Given the description of an element on the screen output the (x, y) to click on. 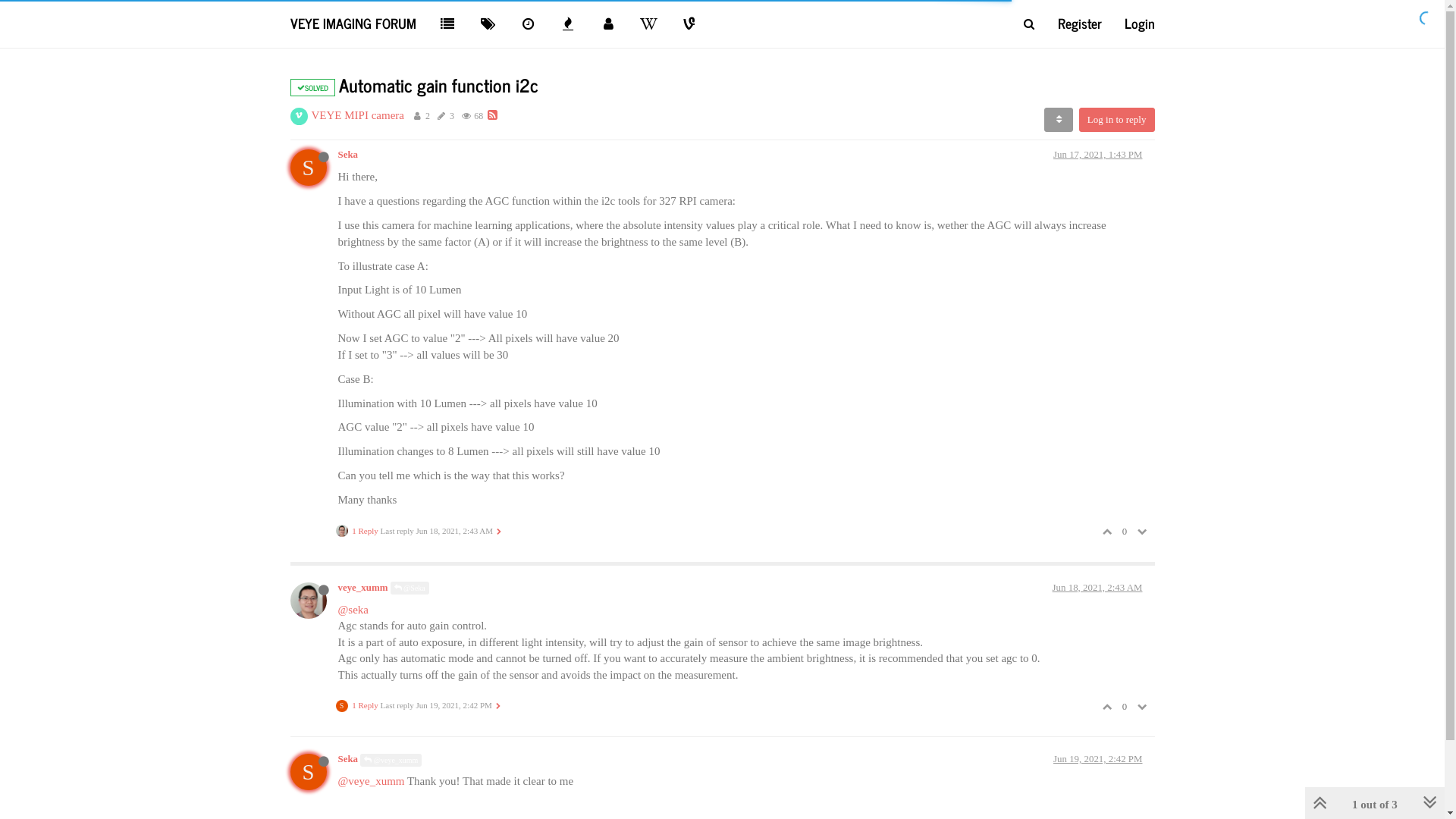
Search Element type: hover (1028, 23)
@seka Element type: text (353, 609)
Views Element type: hover (465, 115)
Seka Element type: text (348, 154)
Log in to reply Element type: text (1116, 119)
Login Element type: text (1139, 22)
Offline Element type: hover (323, 156)
Posts Element type: hover (441, 115)
Seka Element type: text (348, 758)
S Element type: text (313, 770)
@Seka Element type: text (409, 587)
VEYE MIPI camera Element type: text (356, 115)
Offline Element type: hover (323, 761)
Jun 18, 2021, 2:43 AM Element type: text (1097, 587)
Jun 19, 2021, 2:42 PM Element type: text (1097, 758)
Jun 17, 2021, 1:43 PM Element type: text (1097, 154)
Sort by Element type: hover (1058, 119)
Register Element type: text (1079, 22)
S 1 Reply Last reply Jun 19, 2021, 2:42 PM Element type: text (418, 705)
S Element type: text (313, 166)
@veye_xumm Element type: text (390, 759)
Posters Element type: hover (416, 115)
1 Reply Last reply Jun 18, 2021, 2:43 AM Element type: text (419, 530)
Offline Element type: hover (323, 589)
@veye_xumm Element type: text (371, 781)
veye_xumm Element type: text (363, 587)
